Given the description of an element on the screen output the (x, y) to click on. 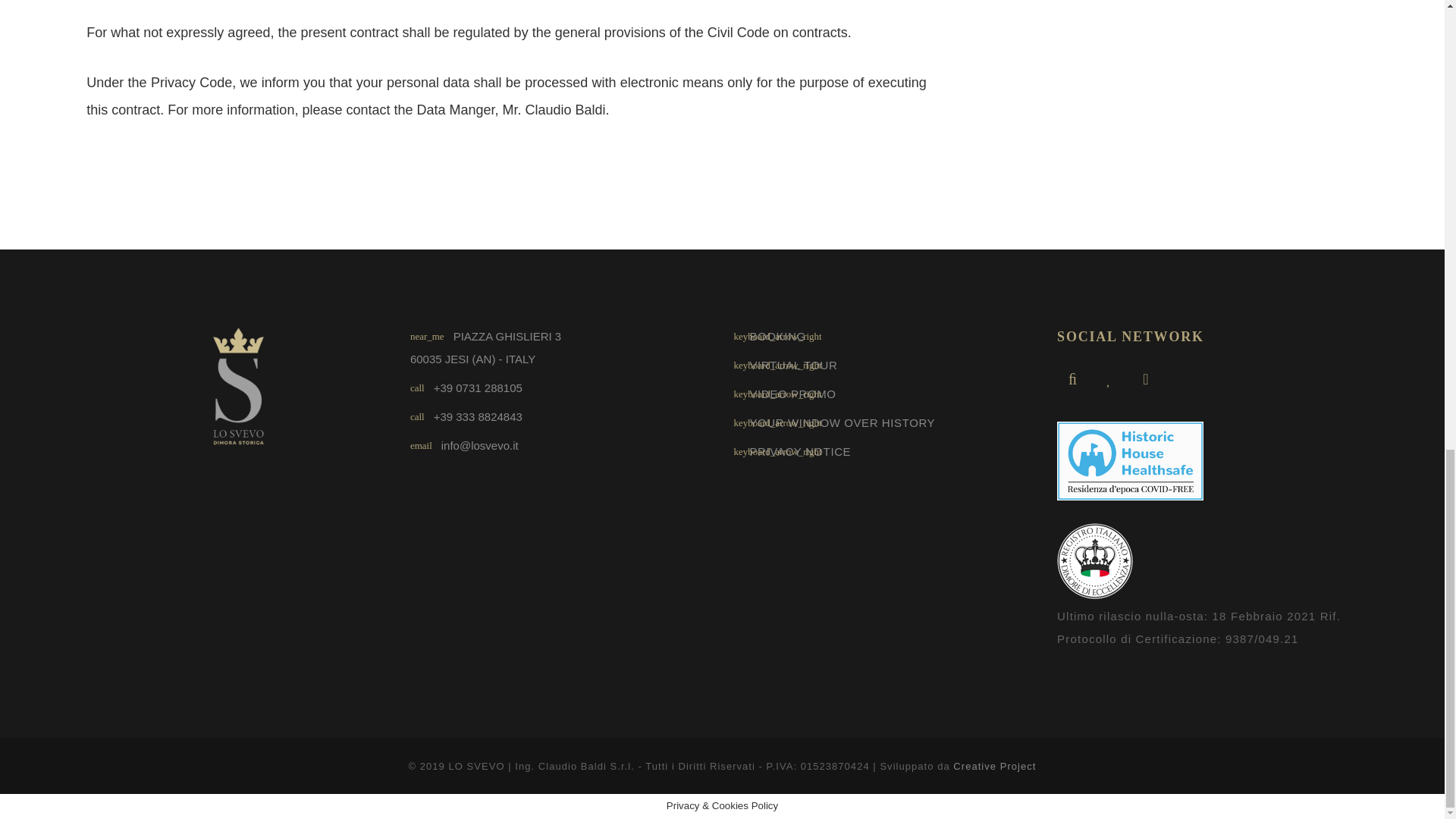
Youtube (1145, 377)
Facebook (1073, 377)
Instagram (1109, 377)
